Given the description of an element on the screen output the (x, y) to click on. 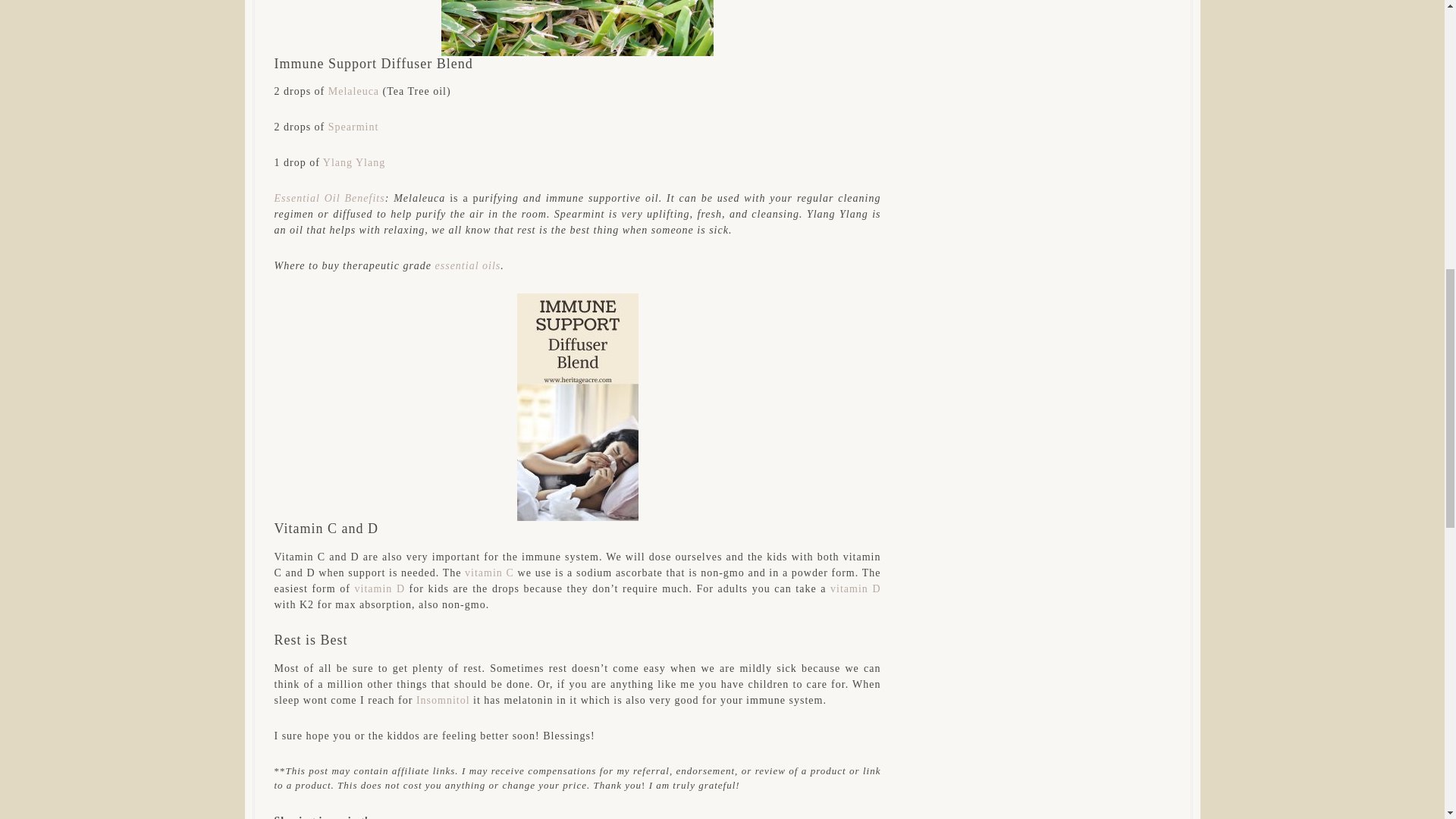
Melaleuca (353, 91)
vitamin D (852, 588)
essential oils (467, 265)
Spearmint (353, 126)
Essential Oil Benefits (330, 197)
Insomnitol (444, 699)
vitamin D (380, 588)
Ylang Ylang (354, 162)
vitamin C (488, 572)
